Given the description of an element on the screen output the (x, y) to click on. 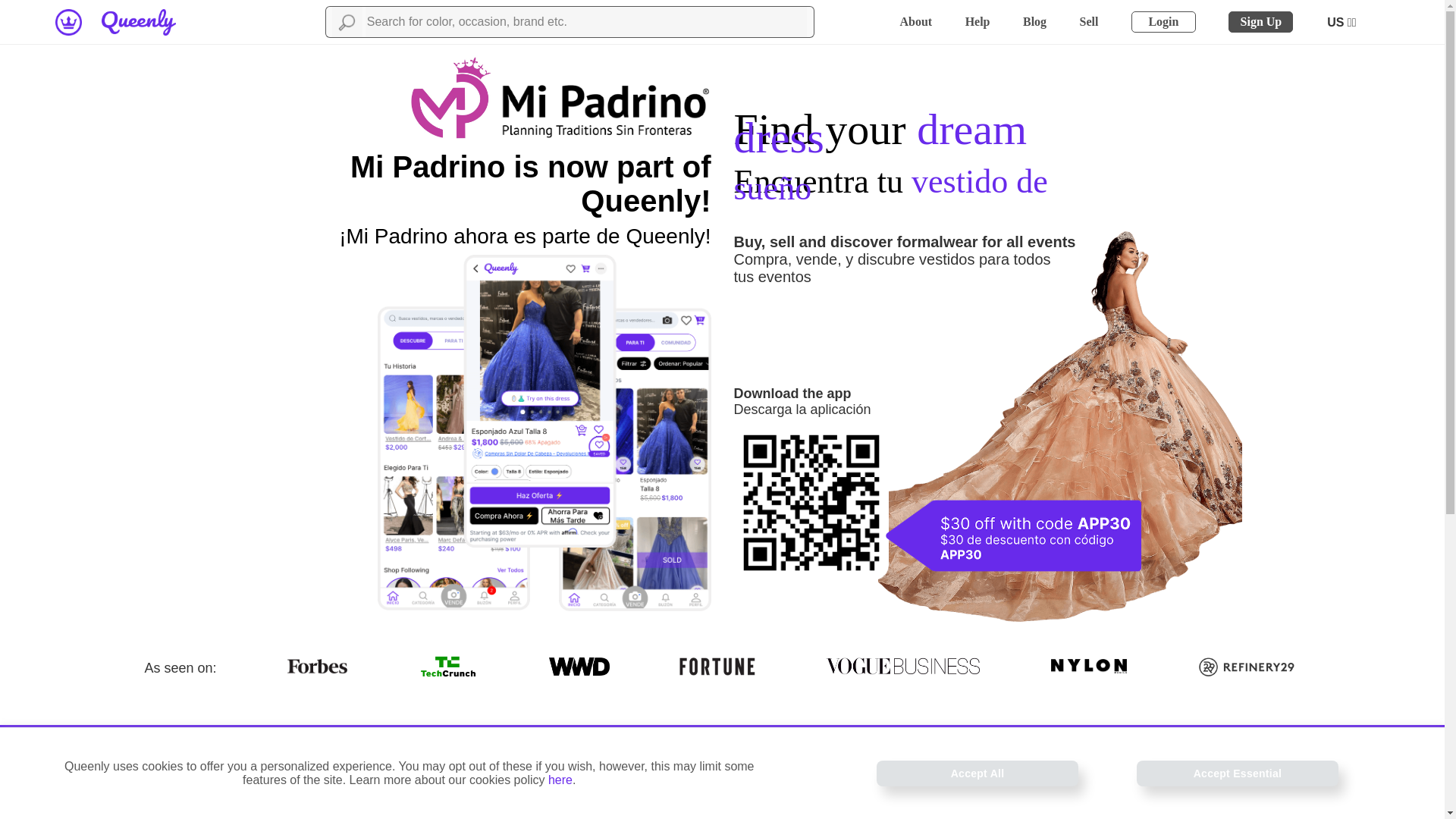
Sell (1089, 21)
Login (1163, 21)
Nylon Manila (1088, 666)
About (915, 21)
Queenly - Buy and sell prom, pageant, and formal dresses (138, 22)
WWD (579, 666)
Get the Queenly app on iPhone or Android (1038, 781)
Fortune (717, 666)
Blog (1034, 21)
REFINERY29 (1248, 666)
Tech Crunch (448, 666)
Vogue (902, 666)
Select your country (1342, 22)
Sign Up (1260, 21)
Help (977, 21)
